Given the description of an element on the screen output the (x, y) to click on. 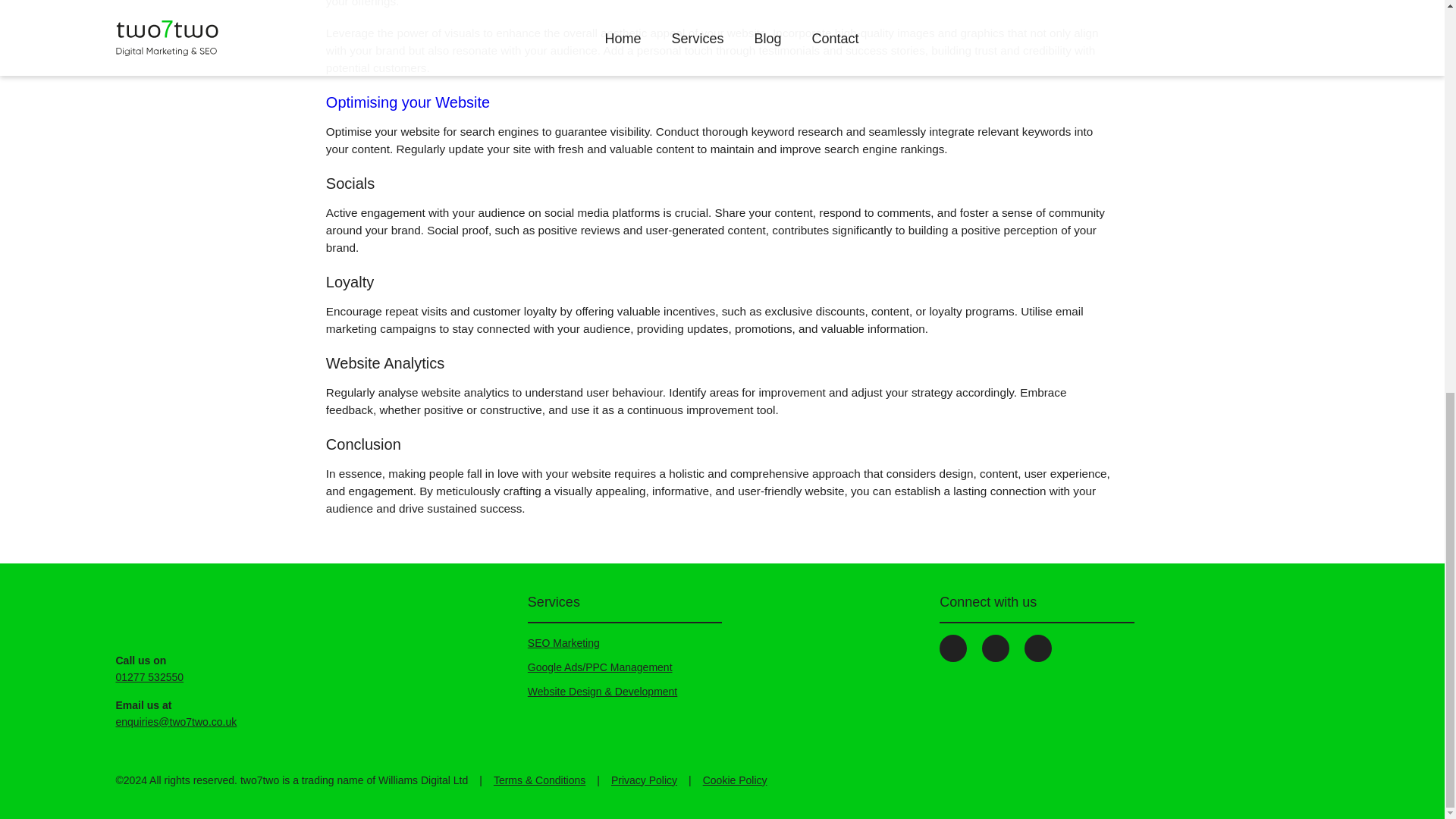
01277 532550 (149, 676)
SEO Marketing (563, 643)
Facebook (952, 647)
LinkedIn (1038, 647)
Cookie Policy (735, 779)
Twitter (995, 647)
Optimising your Website (407, 102)
Privacy Policy (644, 779)
